Given the description of an element on the screen output the (x, y) to click on. 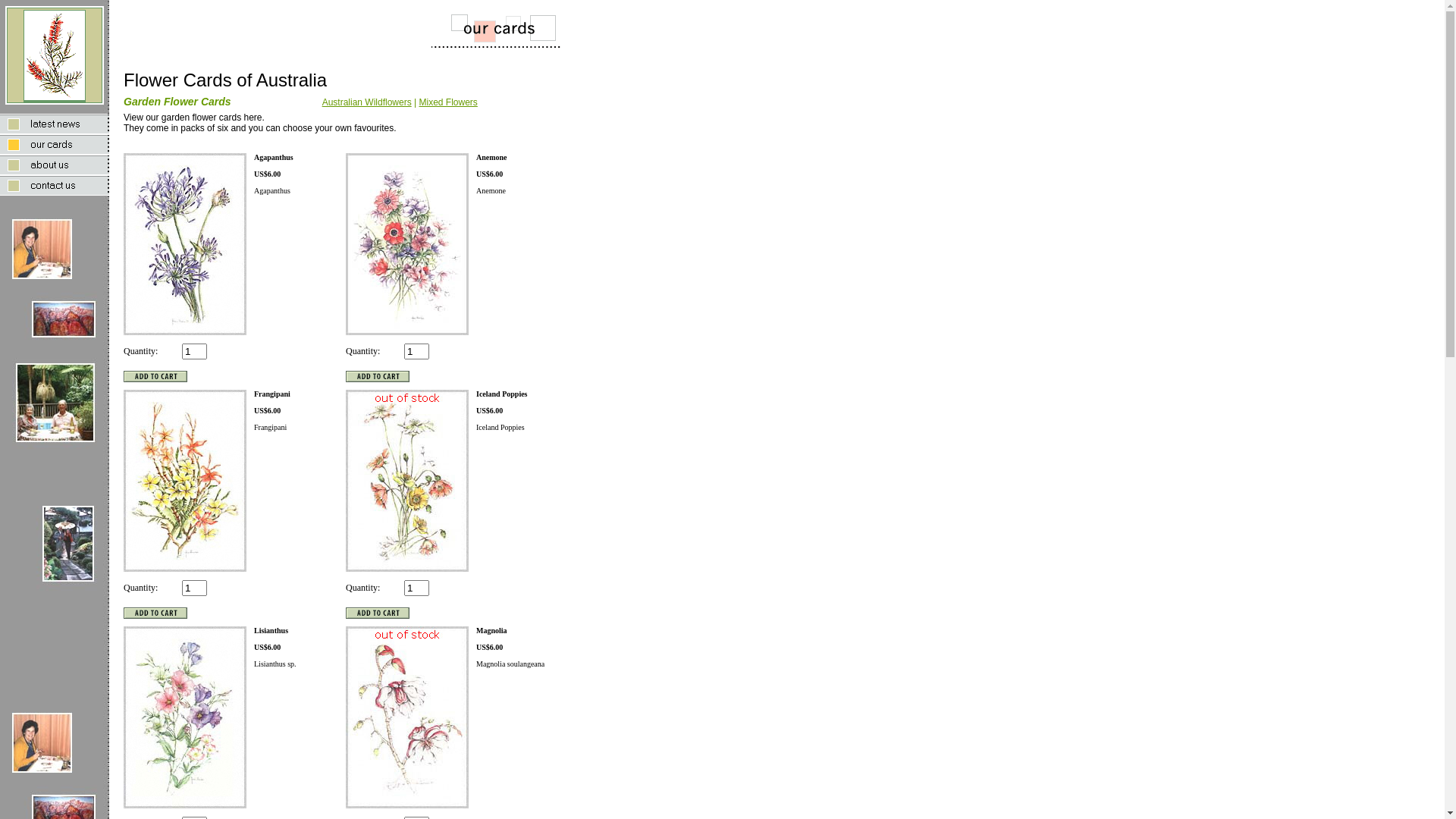
contact us Element type: hover (54, 185)
our cards Element type: hover (54, 144)
Mixed Flowers Element type: text (447, 102)
Australian Wildflowers Element type: text (366, 102)
title_products Element type: hover (482, 28)
Flower Cards  of Australia Element type: hover (54, 55)
latest news Element type: hover (54, 123)
about us Element type: hover (54, 164)
